Given the description of an element on the screen output the (x, y) to click on. 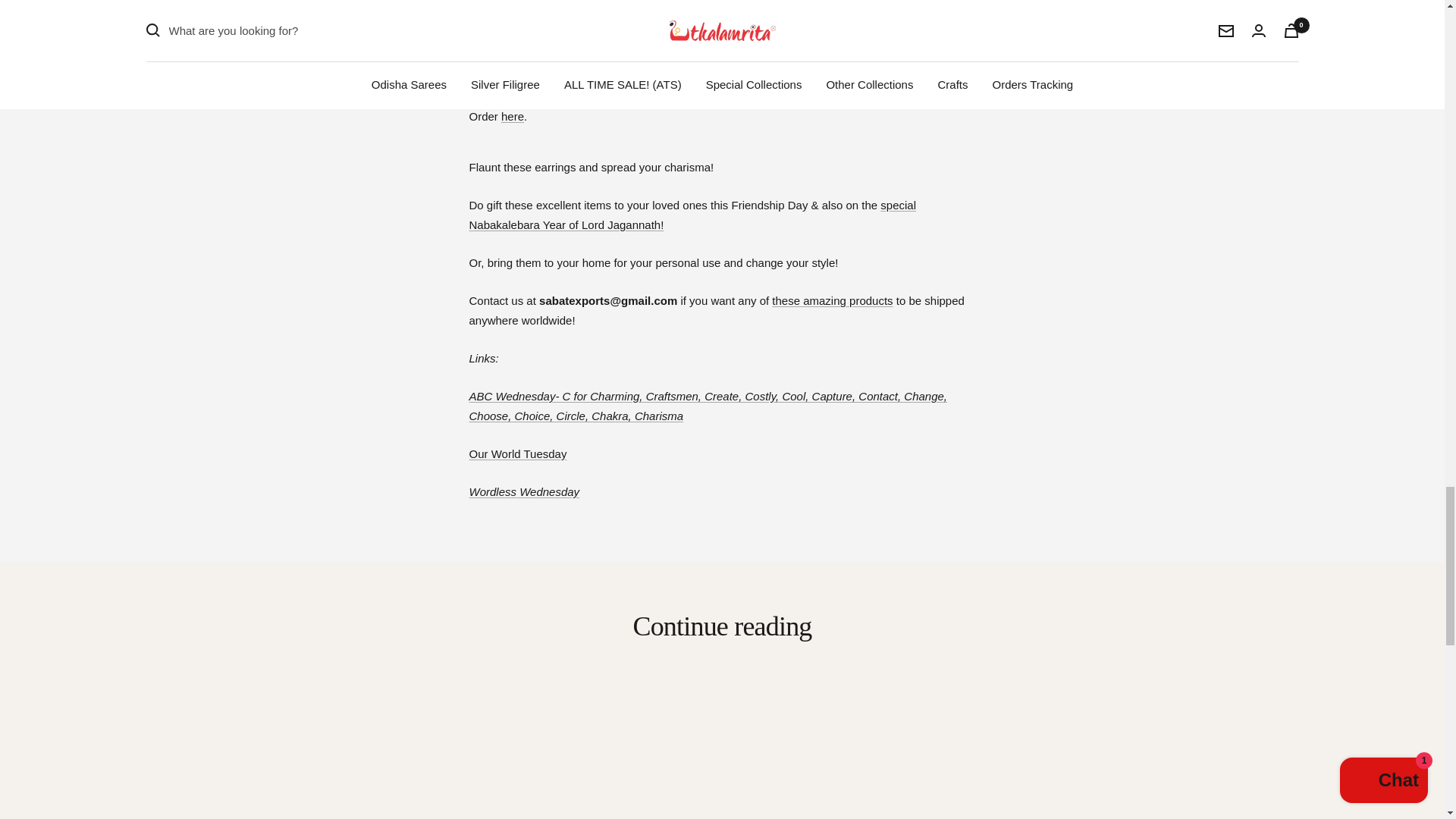
here (512, 115)
special Nabakalebara Year of Lord Jagannath! (691, 214)
these amazing products (831, 300)
